Given the description of an element on the screen output the (x, y) to click on. 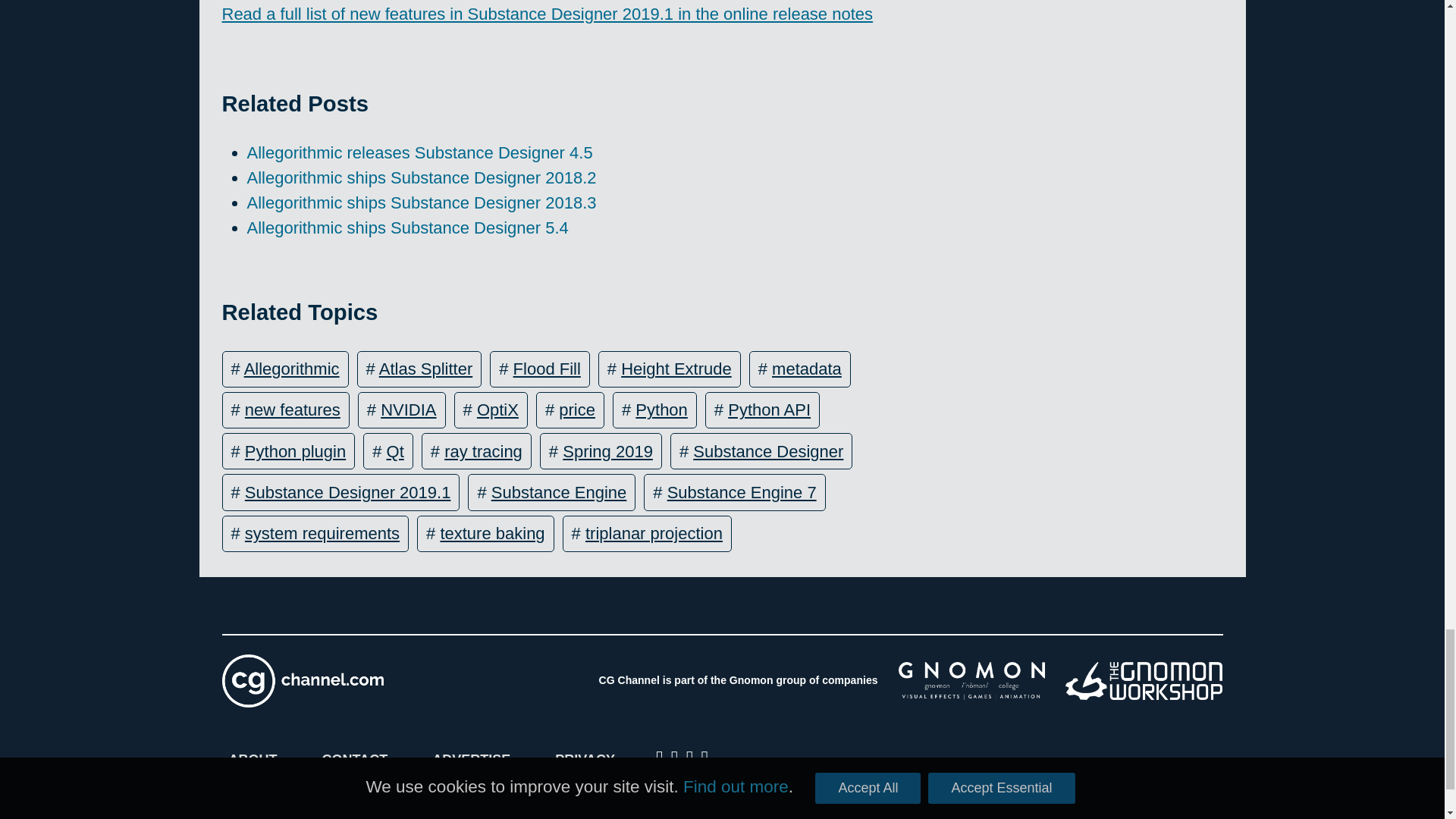
Allegorithmic ships Substance Designer 2018.3 (421, 202)
Allegorithmic ships Substance Designer 5.4 (408, 227)
Gnomon Workshop (1143, 680)
Allegorithmic ships Substance Designer 2018.2 (421, 177)
Allegorithmic releases Substance Designer 4.5 (419, 152)
Allegorithmic ships Substance Designer 2018.3 (421, 202)
Gnomon School (970, 680)
Allegorithmic releases Substance Designer 4.5 (419, 152)
Flood Fill (546, 368)
Allegorithmic ships Substance Designer 5.4 (408, 227)
Allegorithmic (291, 368)
Allegorithmic ships Substance Designer 2018.2 (421, 177)
Atlas Splitter (425, 368)
